Given the description of an element on the screen output the (x, y) to click on. 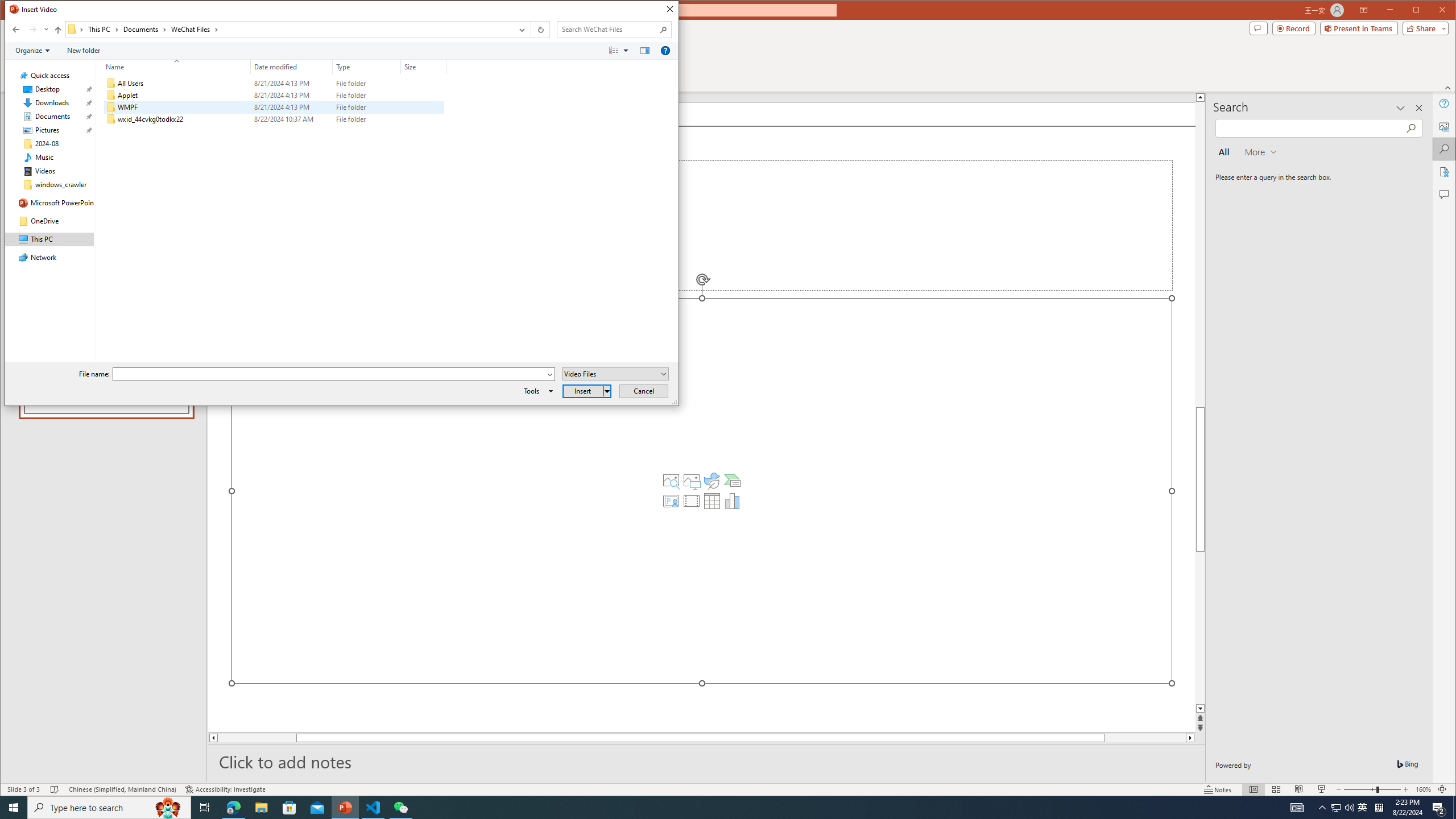
Running applications (707, 807)
Views (621, 50)
Address: C:\Users\wangyian\Documents\WeChat Files (288, 29)
File name: (329, 374)
Address band toolbar (530, 29)
All locations (75, 29)
wxid_44cvkg0todkx22 (273, 119)
Search Box (608, 29)
